Given the description of an element on the screen output the (x, y) to click on. 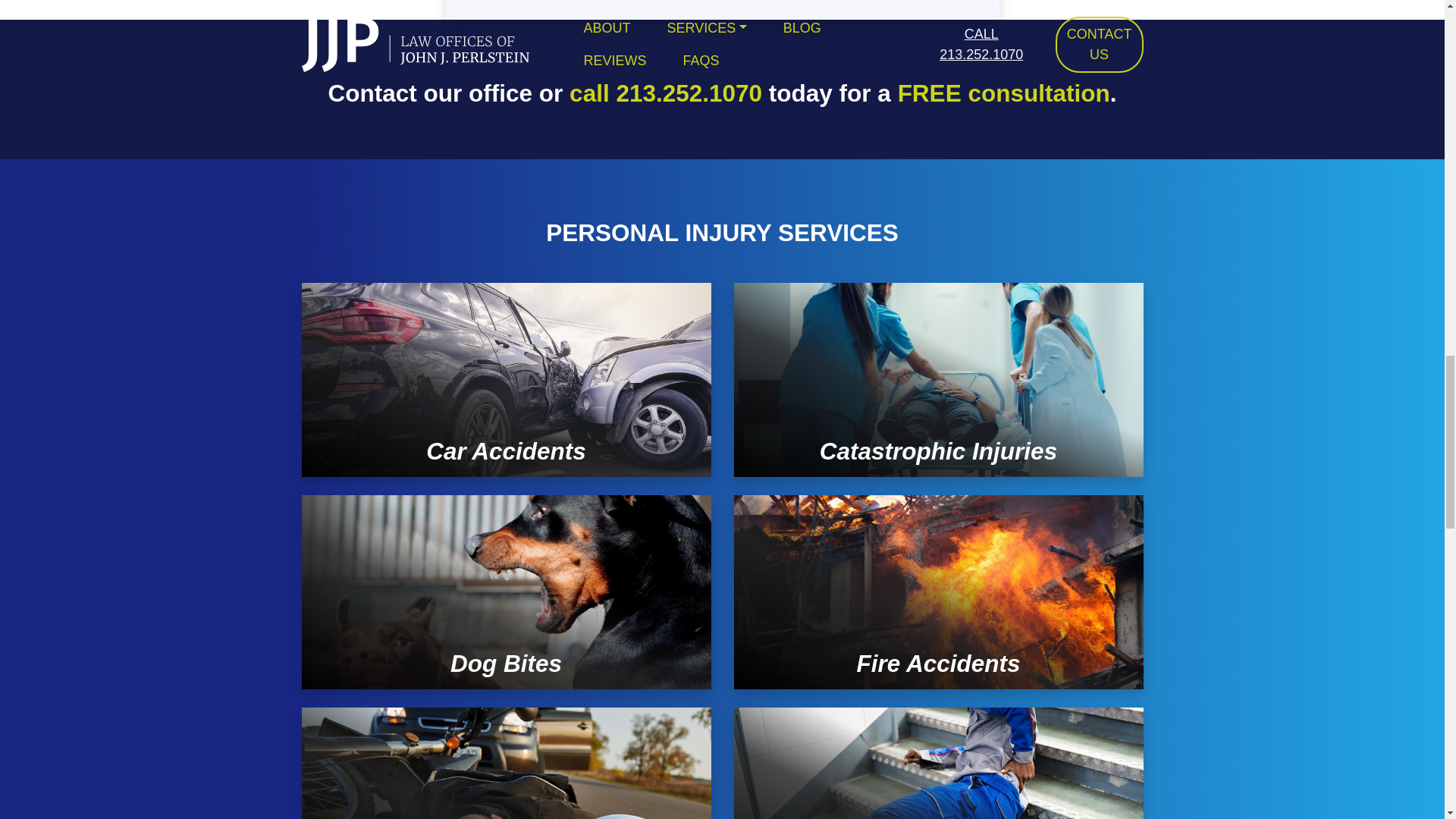
Dog Bites (506, 592)
call 213.252.1070 (665, 93)
Catastrophic Injuries (937, 379)
Fire Accidents (937, 592)
Car Accidents (506, 379)
FREE consultation (1003, 93)
Premises Liability (937, 763)
Motorcycle Accidents (506, 763)
